Given the description of an element on the screen output the (x, y) to click on. 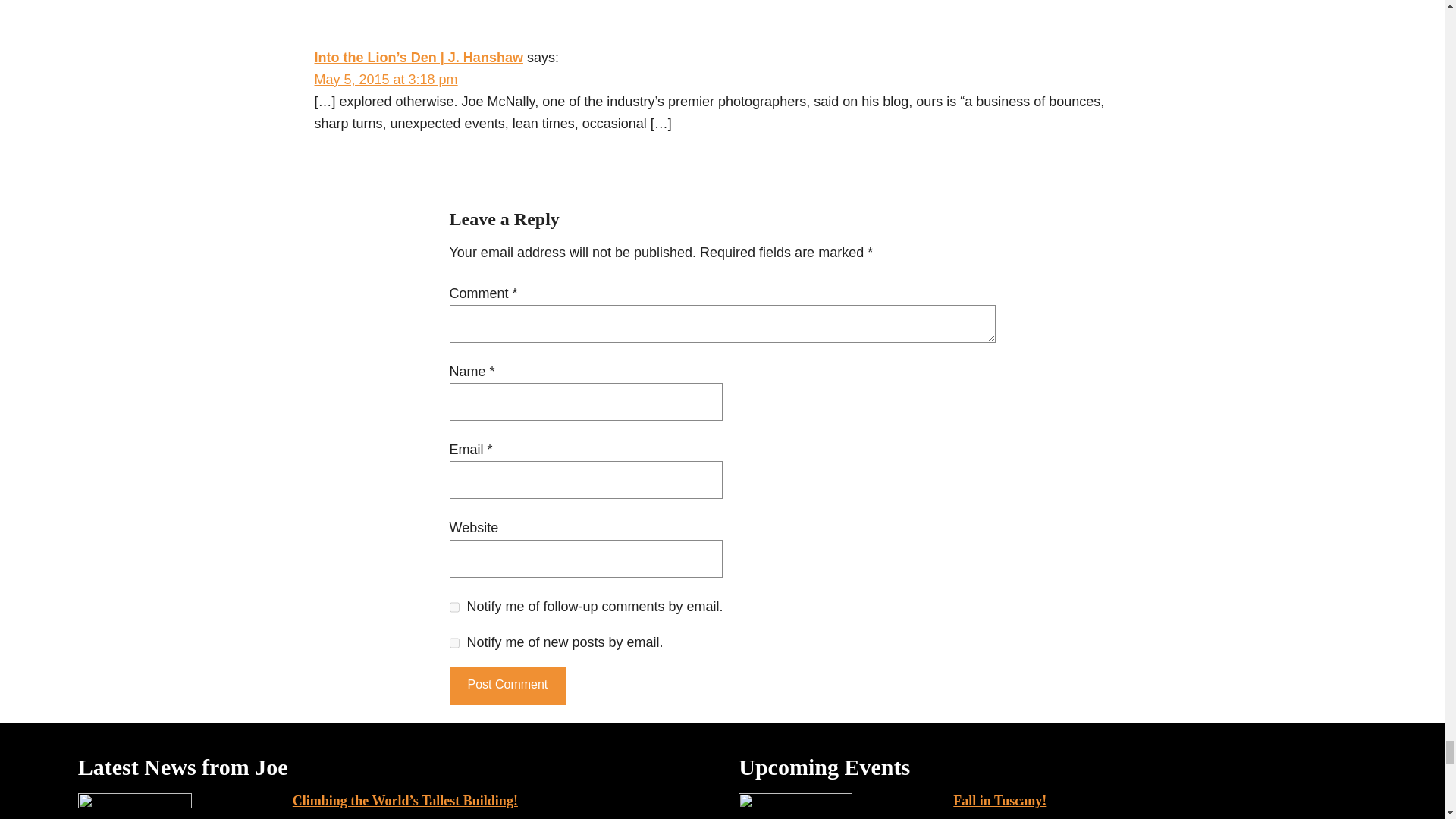
Post Comment (507, 686)
